Given the description of an element on the screen output the (x, y) to click on. 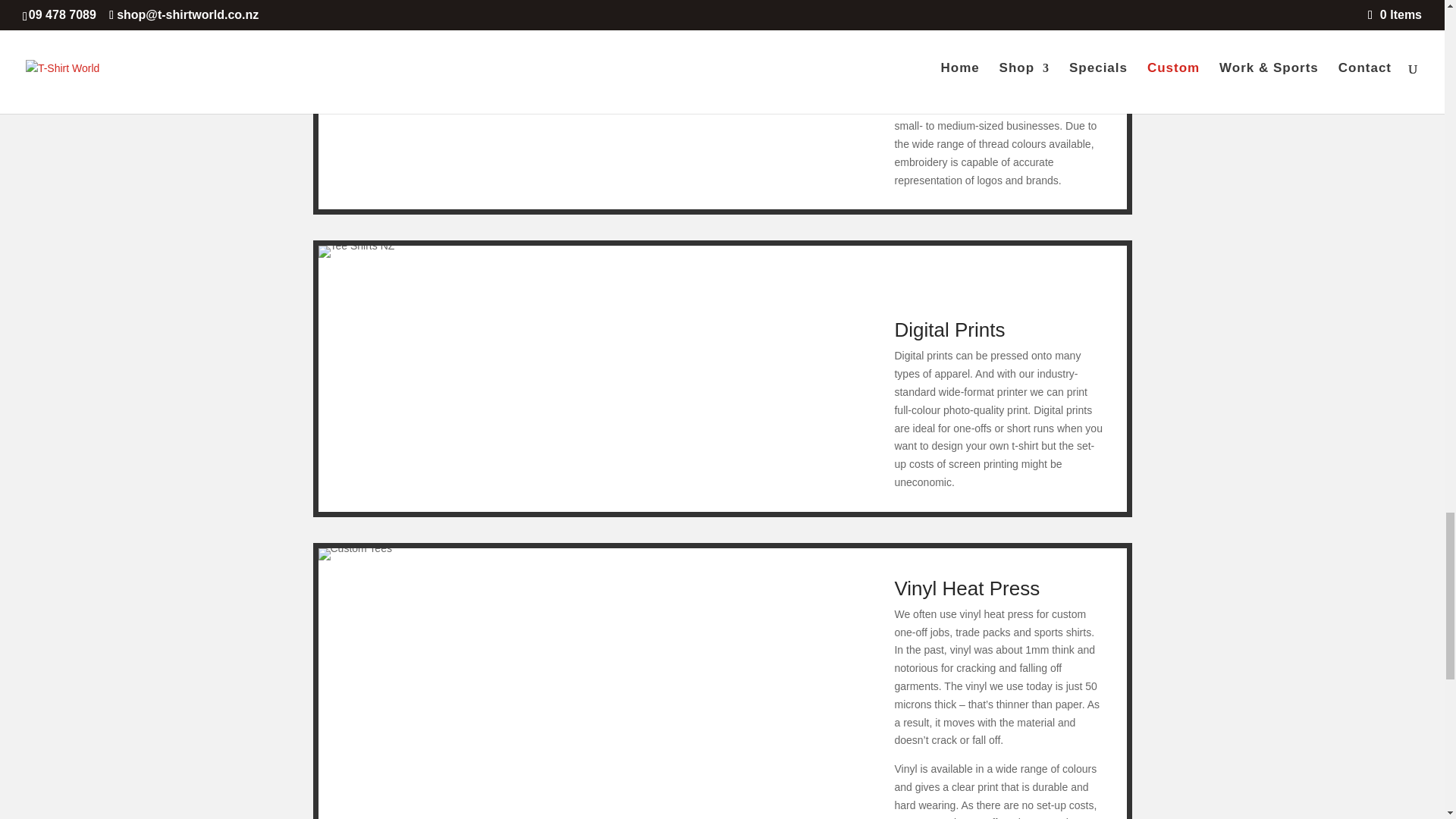
Tee Shirts NZ (356, 251)
Custom Tees (354, 553)
